Given the description of an element on the screen output the (x, y) to click on. 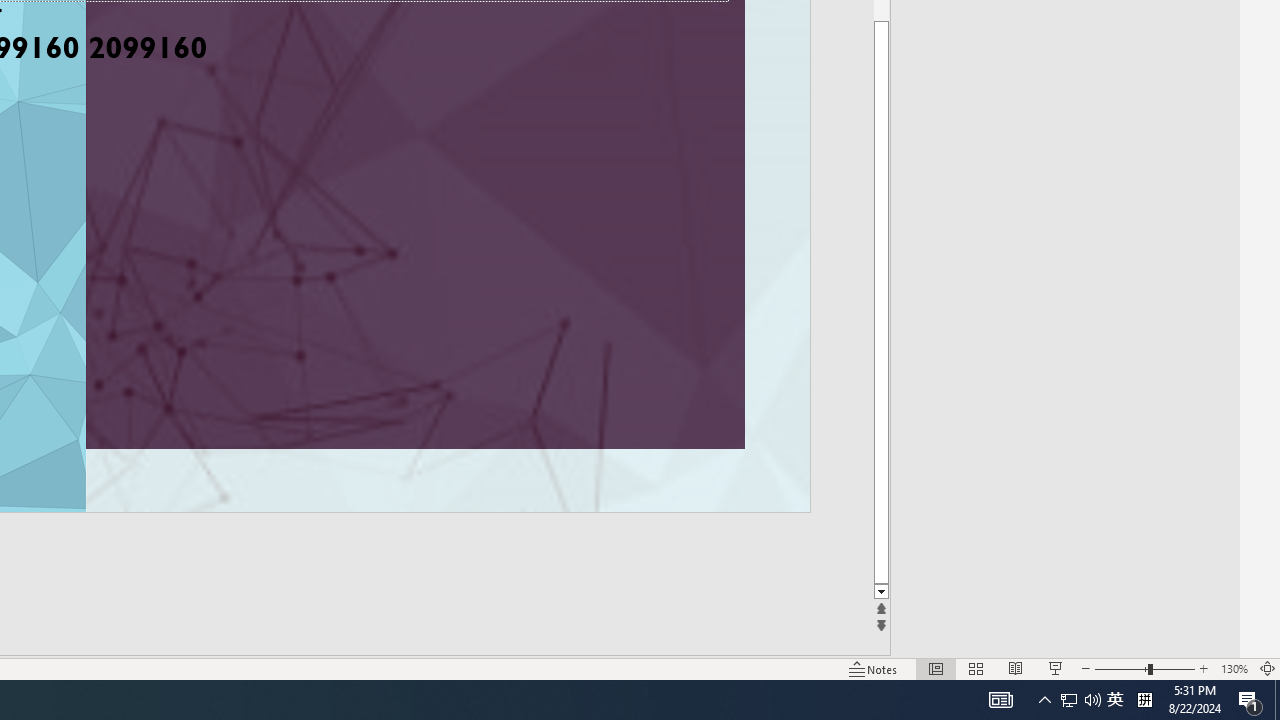
Zoom 130% (1234, 668)
